Given the description of an element on the screen output the (x, y) to click on. 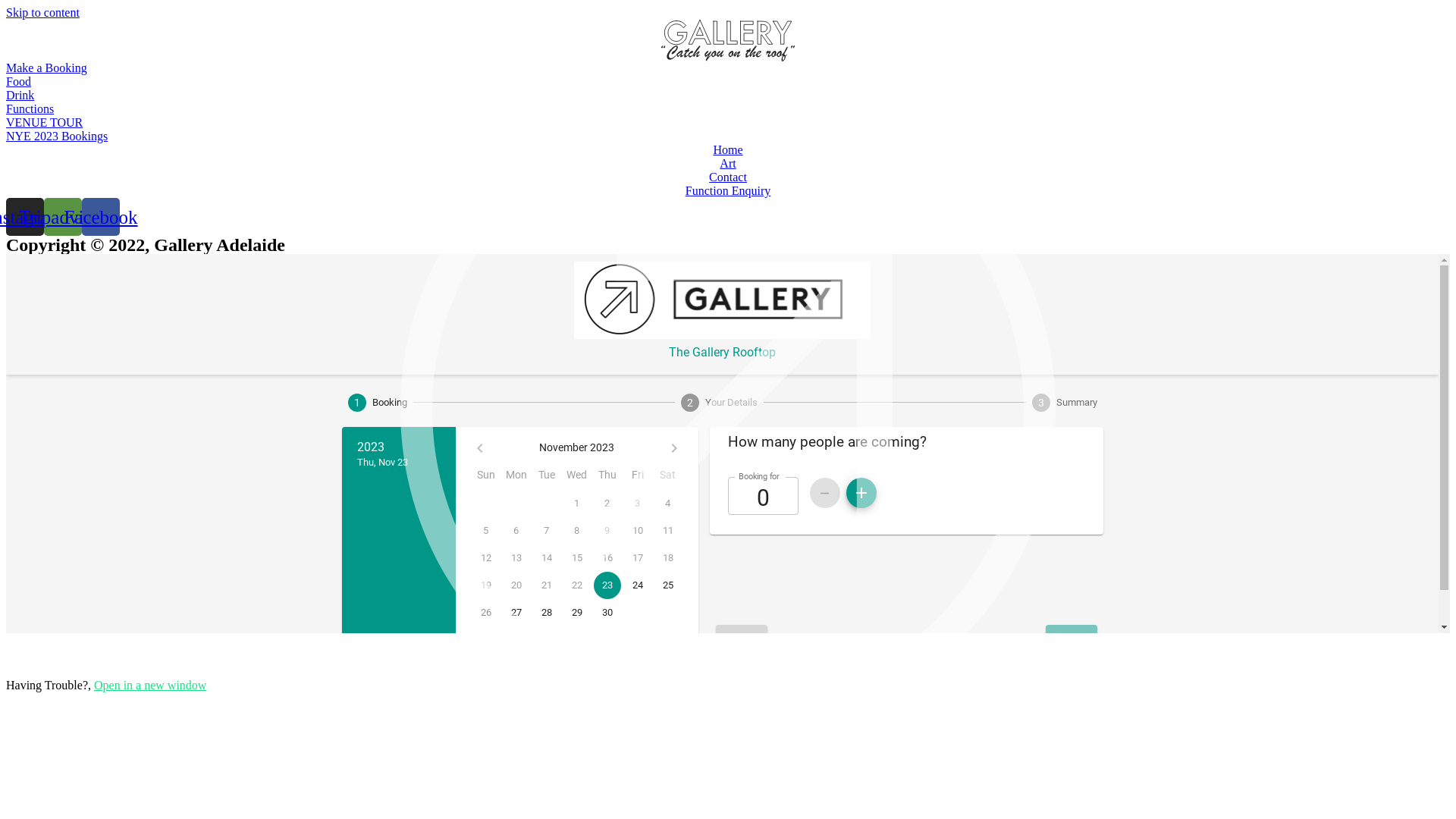
Instagram Element type: text (24, 216)
Functions Element type: text (29, 108)
Art Element type: text (727, 163)
Online Booking Element type: hover (727, 443)
Contact Element type: text (727, 177)
Facebook Element type: text (100, 216)
VENUE TOUR Element type: text (44, 122)
Make a Booking Element type: text (46, 67)
Drink Element type: text (20, 94)
Home Element type: text (727, 149)
Food Element type: text (18, 81)
NYE 2023 Bookings Element type: text (56, 135)
Skip to content Element type: text (42, 12)
Function Enquiry Element type: text (727, 190)
Tripadvisor Element type: text (62, 216)
Open in a new window Element type: text (150, 684)
